Given the description of an element on the screen output the (x, y) to click on. 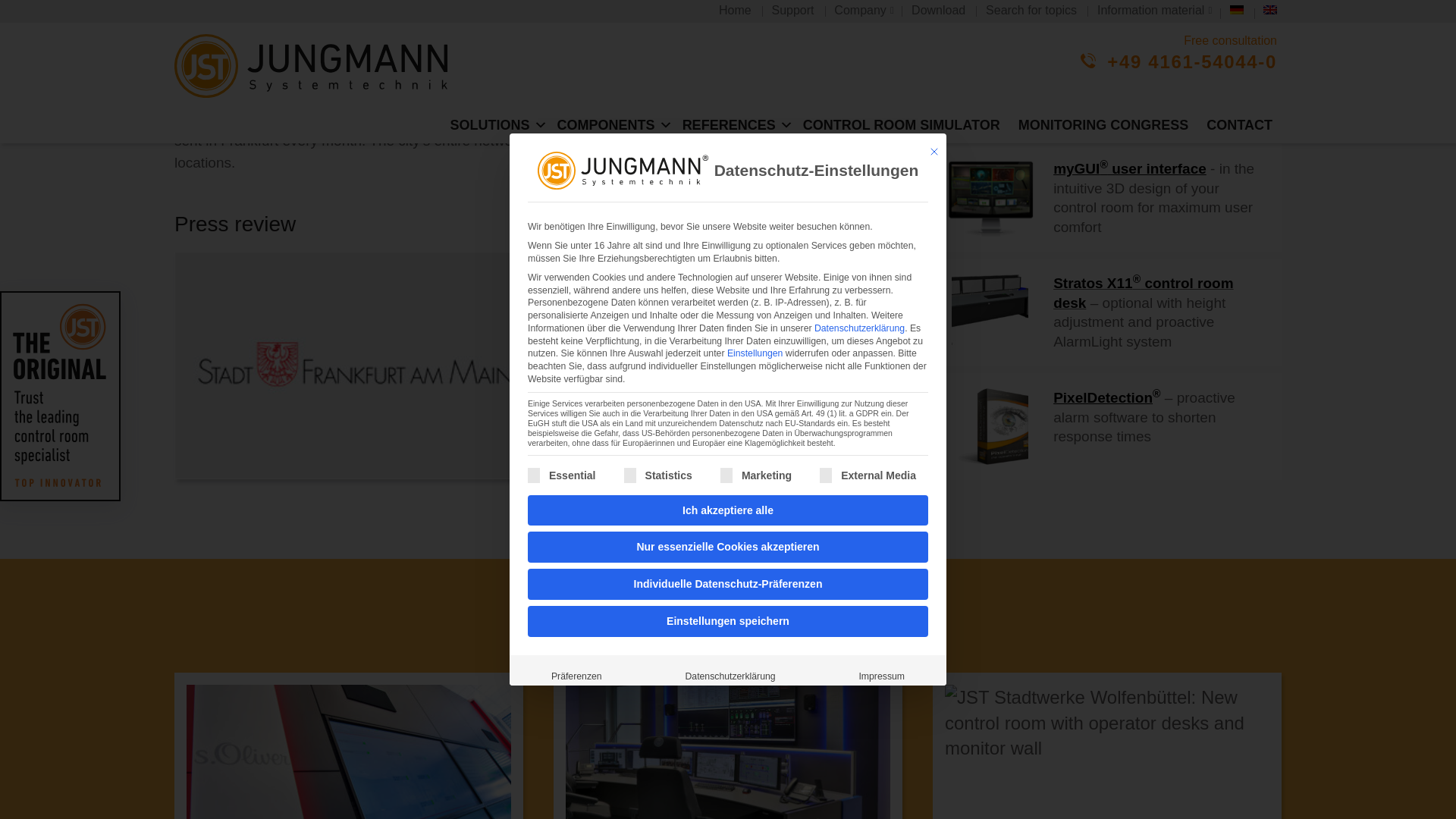
plus (858, 453)
